Given the description of an element on the screen output the (x, y) to click on. 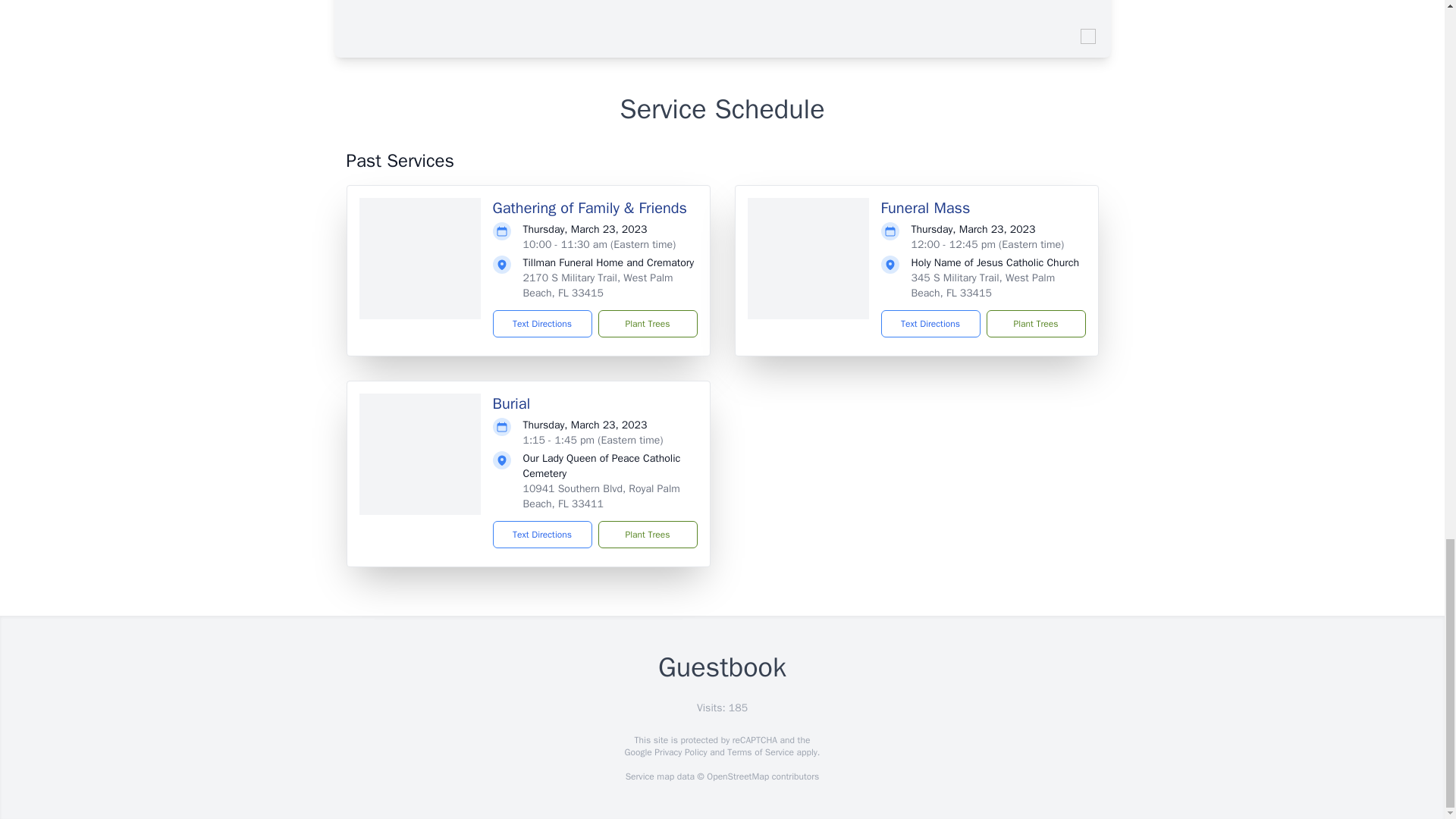
Text Directions (929, 323)
Privacy Policy (679, 752)
Text Directions (542, 533)
Plant Trees (1034, 323)
Terms of Service (759, 752)
Plant Trees (646, 323)
345 S Military Trail, West Palm Beach, FL 33415 (983, 285)
Text Directions (542, 323)
Plant Trees (646, 533)
10941 Southern Blvd, Royal Palm Beach, FL 33411 (600, 496)
